Given the description of an element on the screen output the (x, y) to click on. 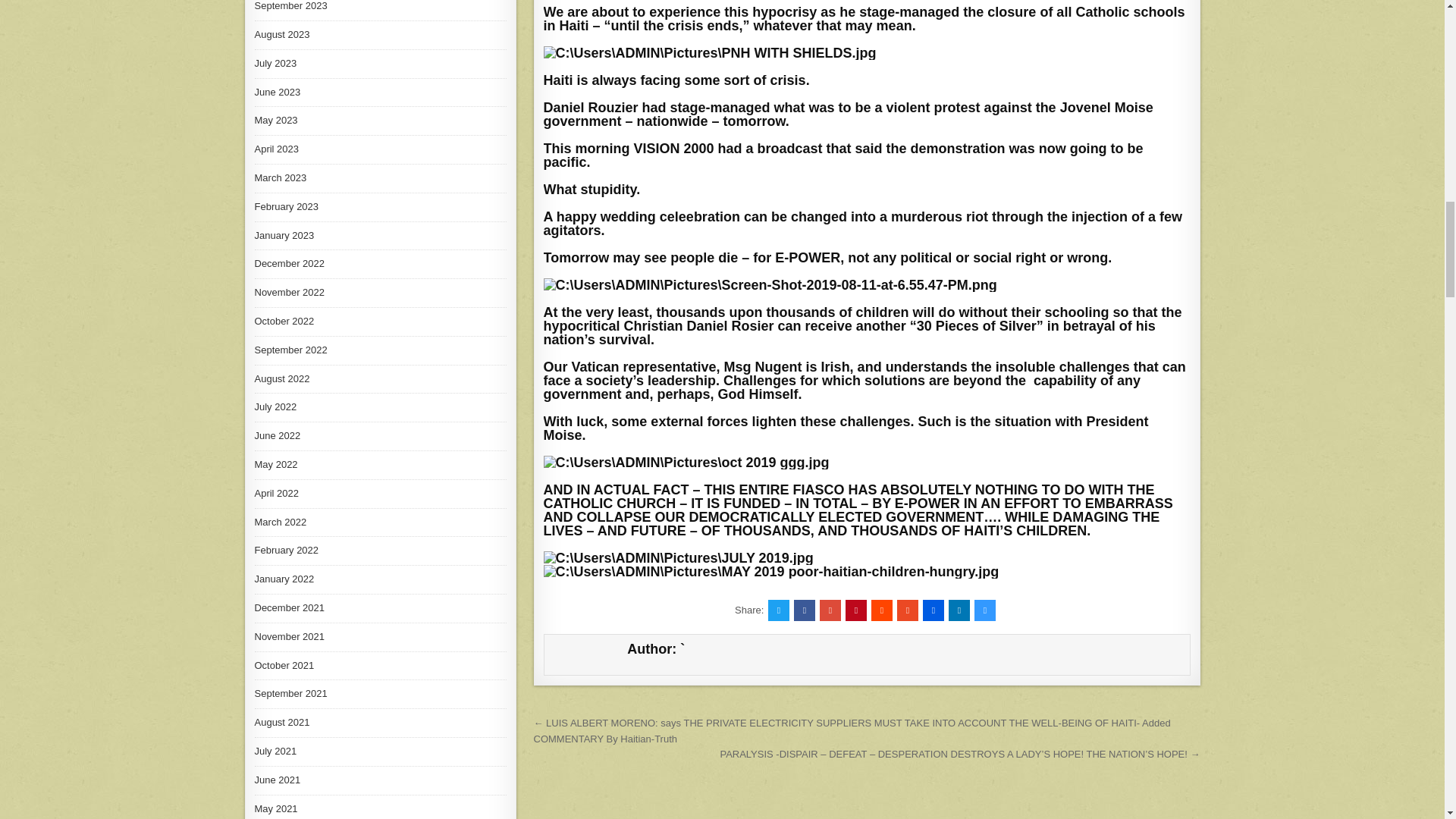
Share this on Facebook (804, 609)
Share this on Reddit (881, 609)
Share this on Stumbleupon (907, 609)
Share this on Pinterest (855, 609)
Share this on Digg (933, 609)
Share this on Linkedin (959, 609)
Tweet This! (778, 609)
Share this on Delicious (984, 609)
